Given the description of an element on the screen output the (x, y) to click on. 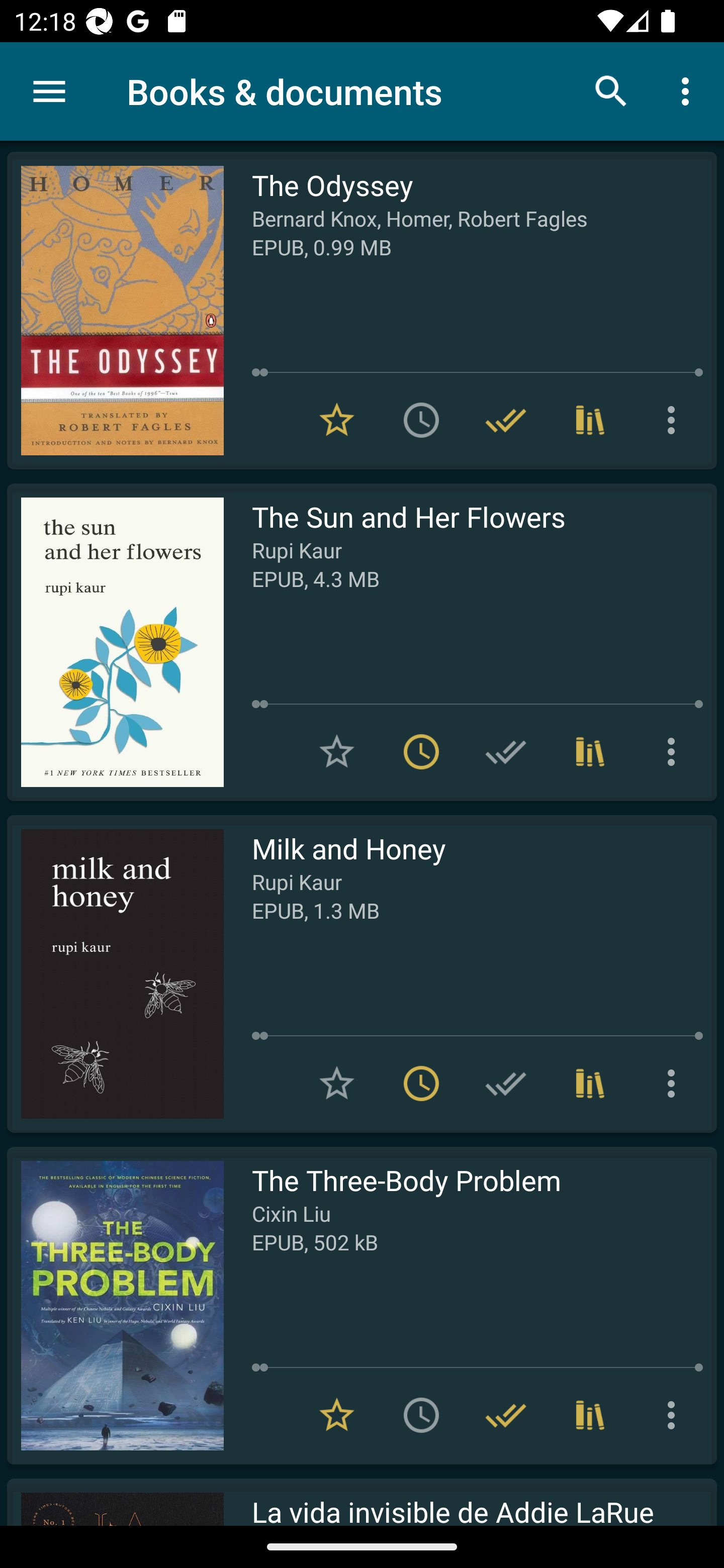
Menu (49, 91)
Search books & documents (611, 90)
More options (688, 90)
Read The Odyssey (115, 310)
Remove from Favorites (336, 419)
Add to To read (421, 419)
Remove from Have read (505, 419)
Collections (2) (590, 419)
More options (674, 419)
Read The Sun and Her Flowers (115, 641)
Add to Favorites (336, 751)
Remove from To read (421, 751)
Add to Have read (505, 751)
Collections (1) (590, 751)
More options (674, 751)
Read Milk and Honey (115, 973)
Add to Favorites (336, 1083)
Remove from To read (421, 1083)
Add to Have read (505, 1083)
Collections (2) (590, 1083)
More options (674, 1083)
Read The Three-Body Problem (115, 1305)
Remove from Favorites (336, 1414)
Add to To read (421, 1414)
Remove from Have read (505, 1414)
Collections (1) (590, 1414)
More options (674, 1414)
